Given the description of an element on the screen output the (x, y) to click on. 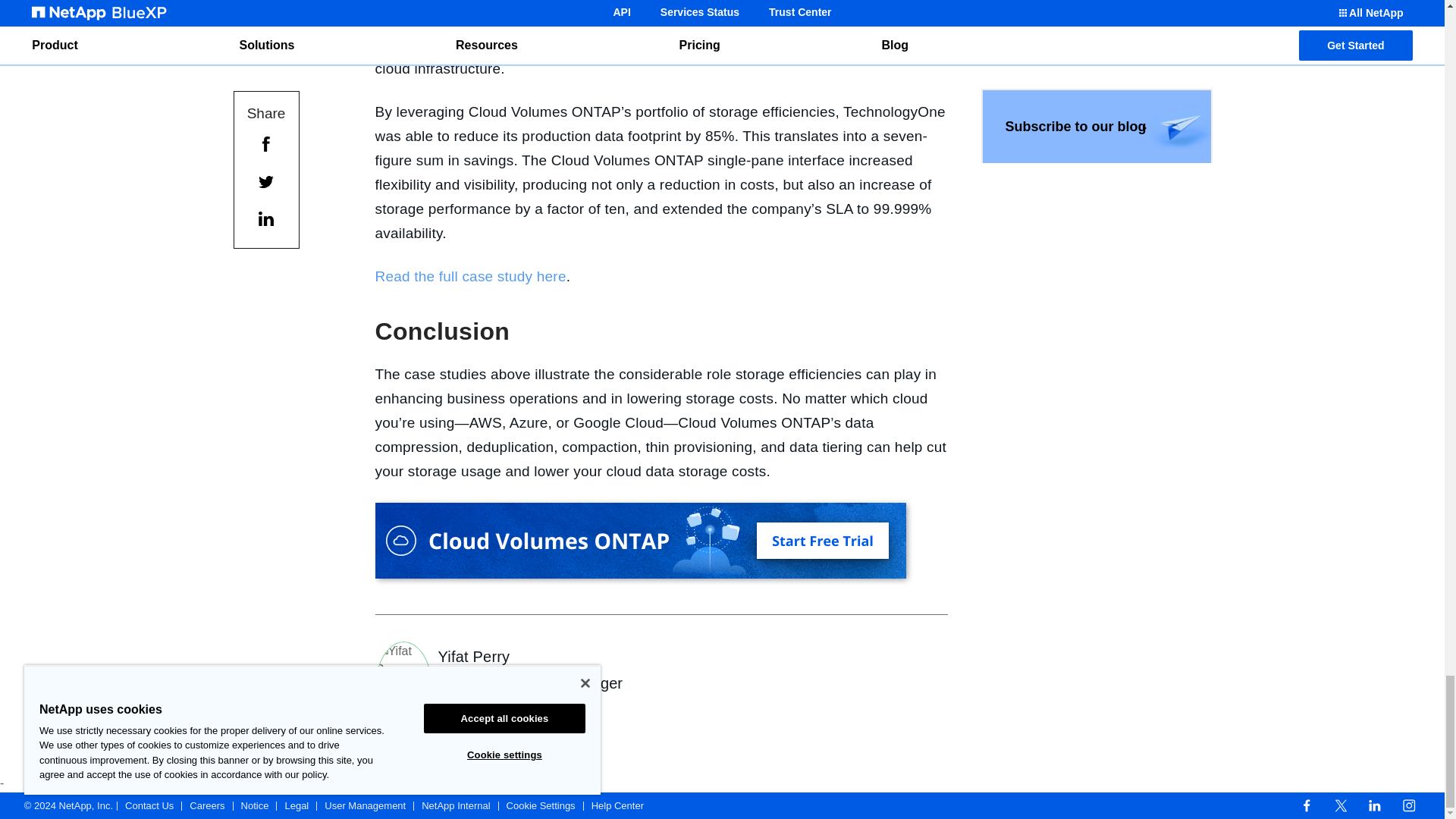
Linkedin (1374, 805)
Twitter (1340, 805)
Facebook (1306, 805)
